Given the description of an element on the screen output the (x, y) to click on. 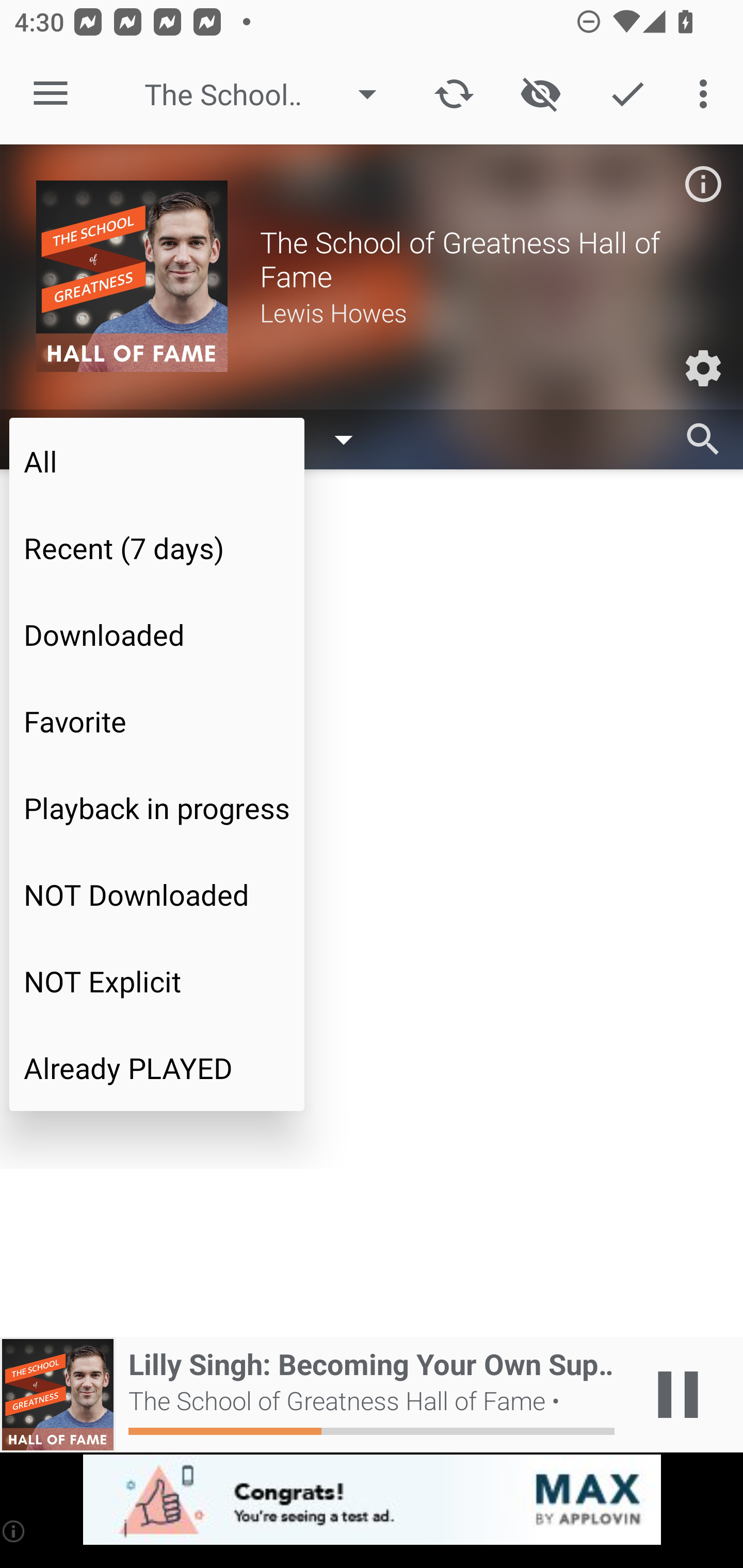
All (156, 460)
Recent (7 days) (156, 547)
Downloaded (156, 634)
Favorite (156, 721)
Playback in progress (156, 808)
NOT Downloaded (156, 894)
NOT Explicit (156, 980)
Already PLAYED (156, 1067)
